Given the description of an element on the screen output the (x, y) to click on. 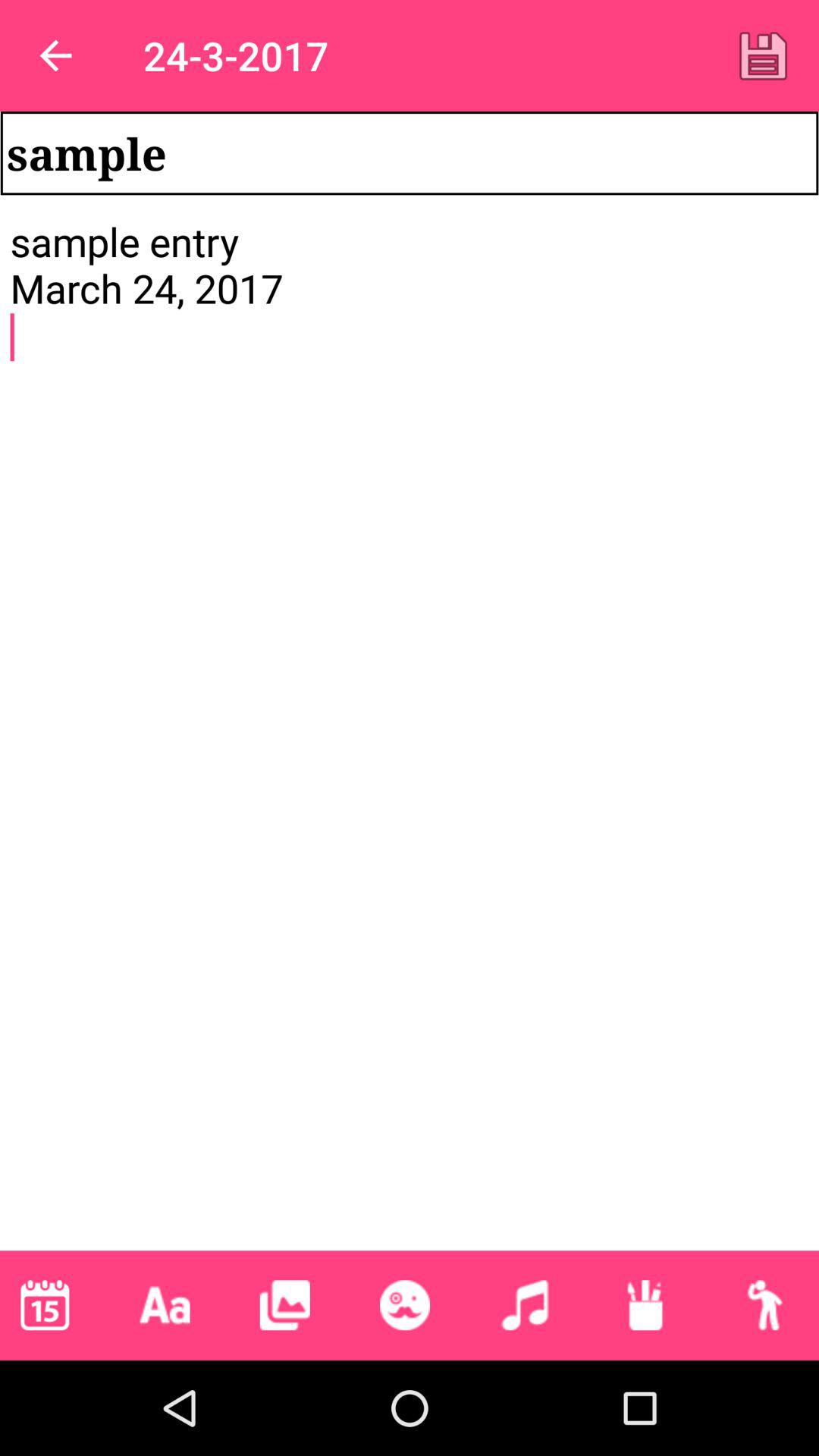
calendar access menu (44, 1305)
